Given the description of an element on the screen output the (x, y) to click on. 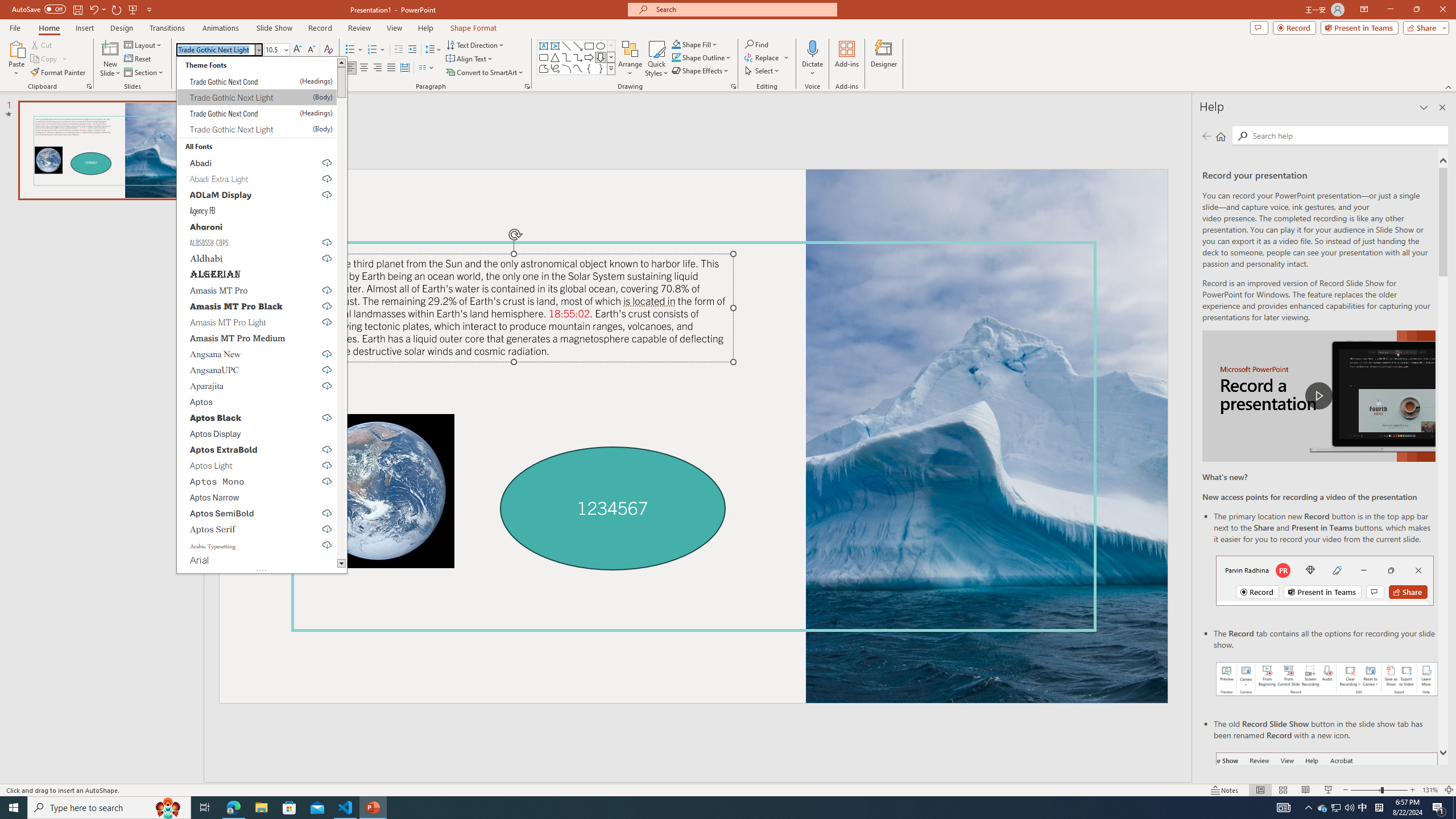
Cut (42, 44)
Previous page (1206, 136)
Convert to SmartArt (485, 72)
Abadi, select to download (256, 162)
Arc (566, 68)
Home (1220, 136)
Paste (16, 48)
Replace... (762, 56)
Ribbon Display Options (1364, 9)
Shapes (611, 68)
Amasis MT Pro Light, select to download (256, 321)
Zoom Out (1365, 790)
Office Clipboard... (88, 85)
Font (261, 315)
